Given the description of an element on the screen output the (x, y) to click on. 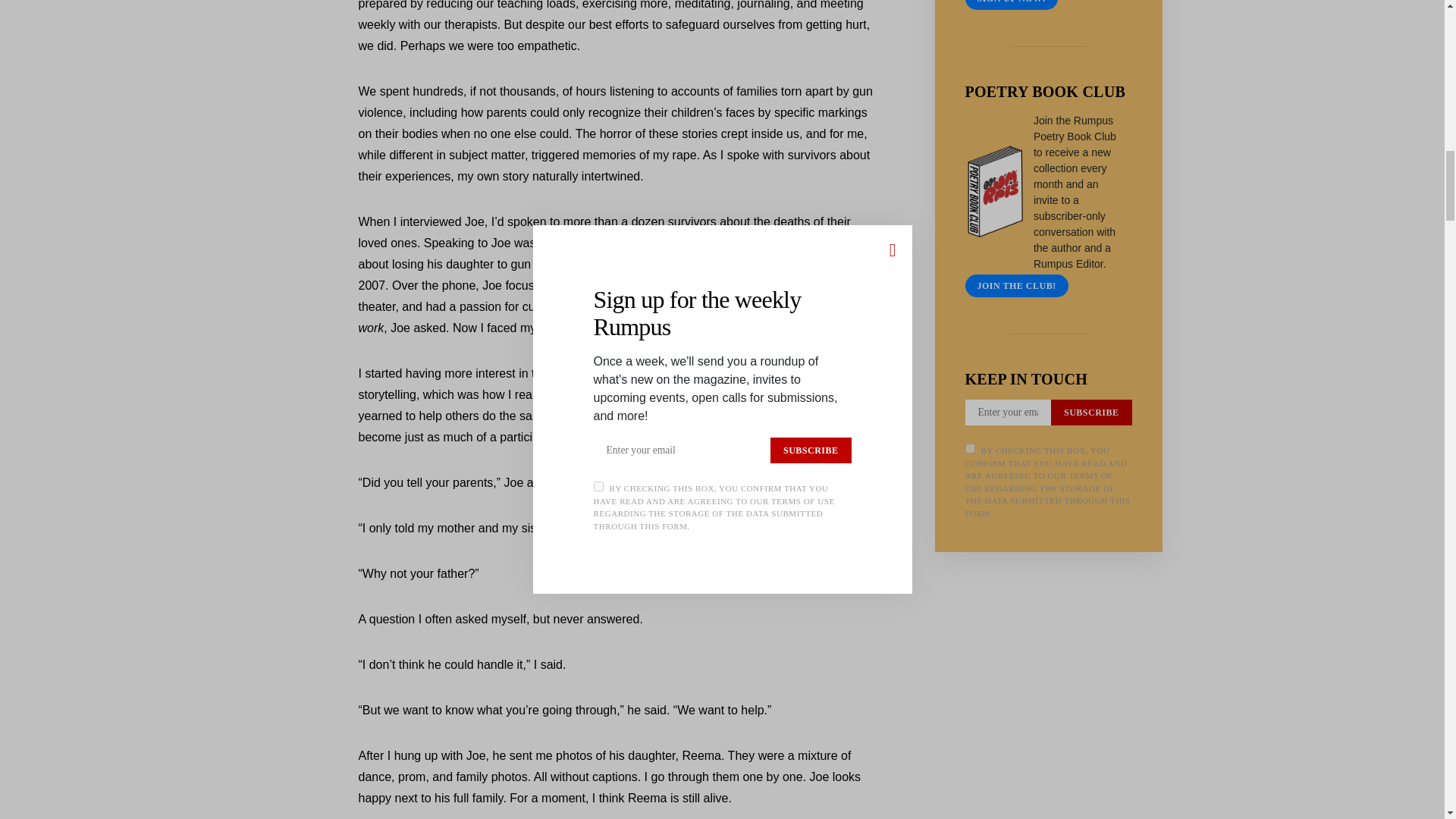
on (968, 448)
